Given the description of an element on the screen output the (x, y) to click on. 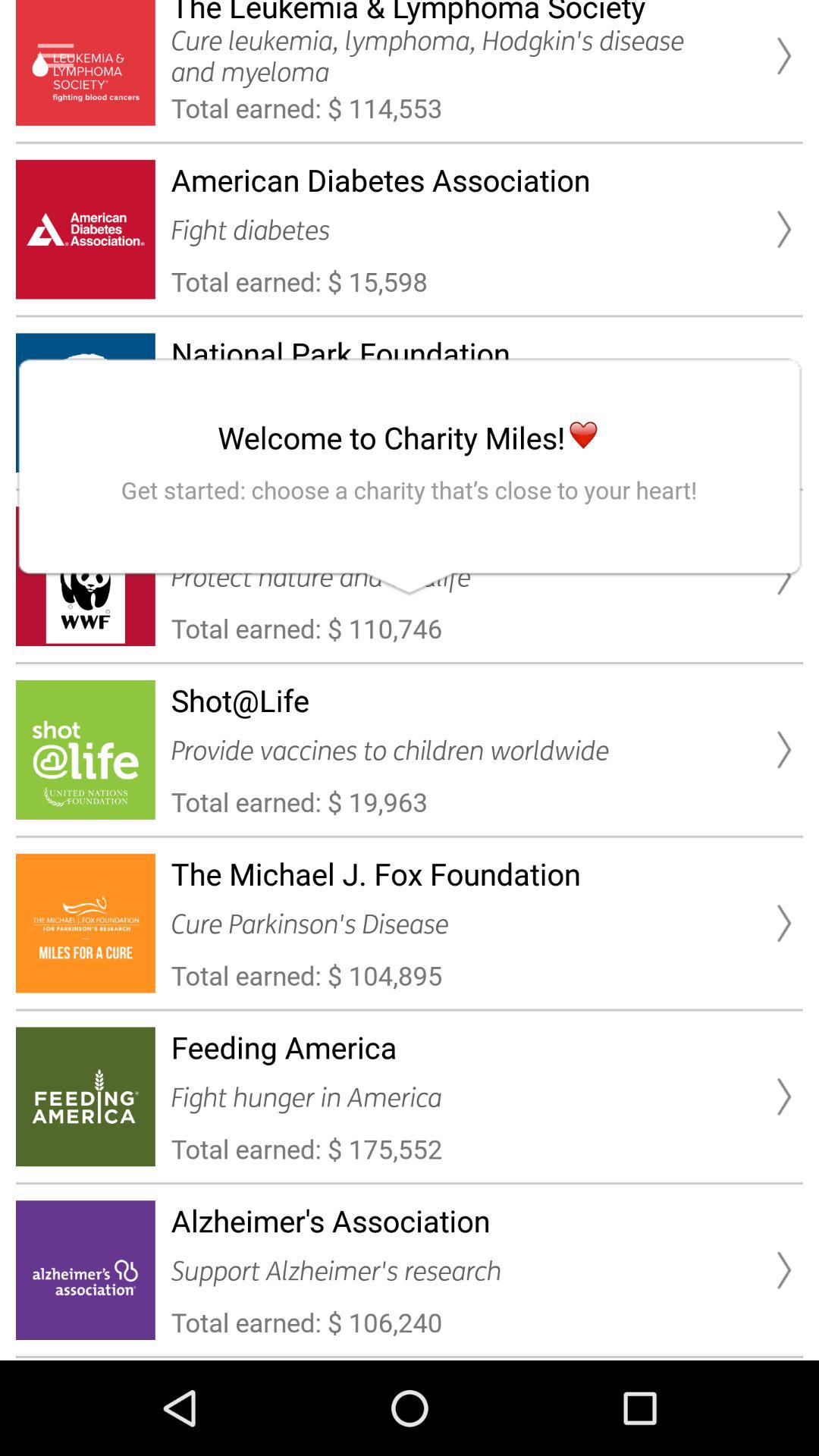
advertisement page (55, 55)
